Given the description of an element on the screen output the (x, y) to click on. 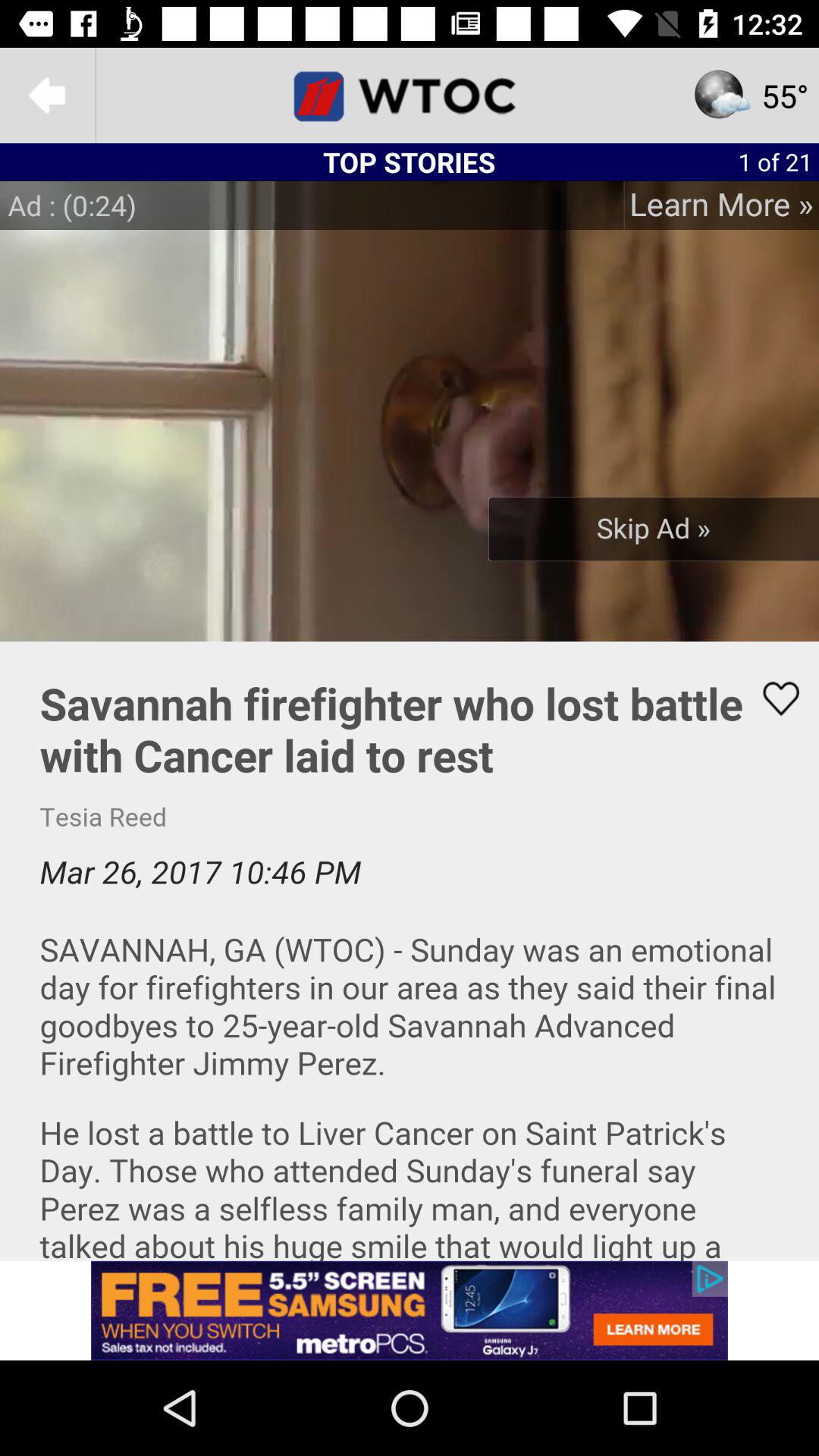
toggle favorite (771, 698)
